Given the description of an element on the screen output the (x, y) to click on. 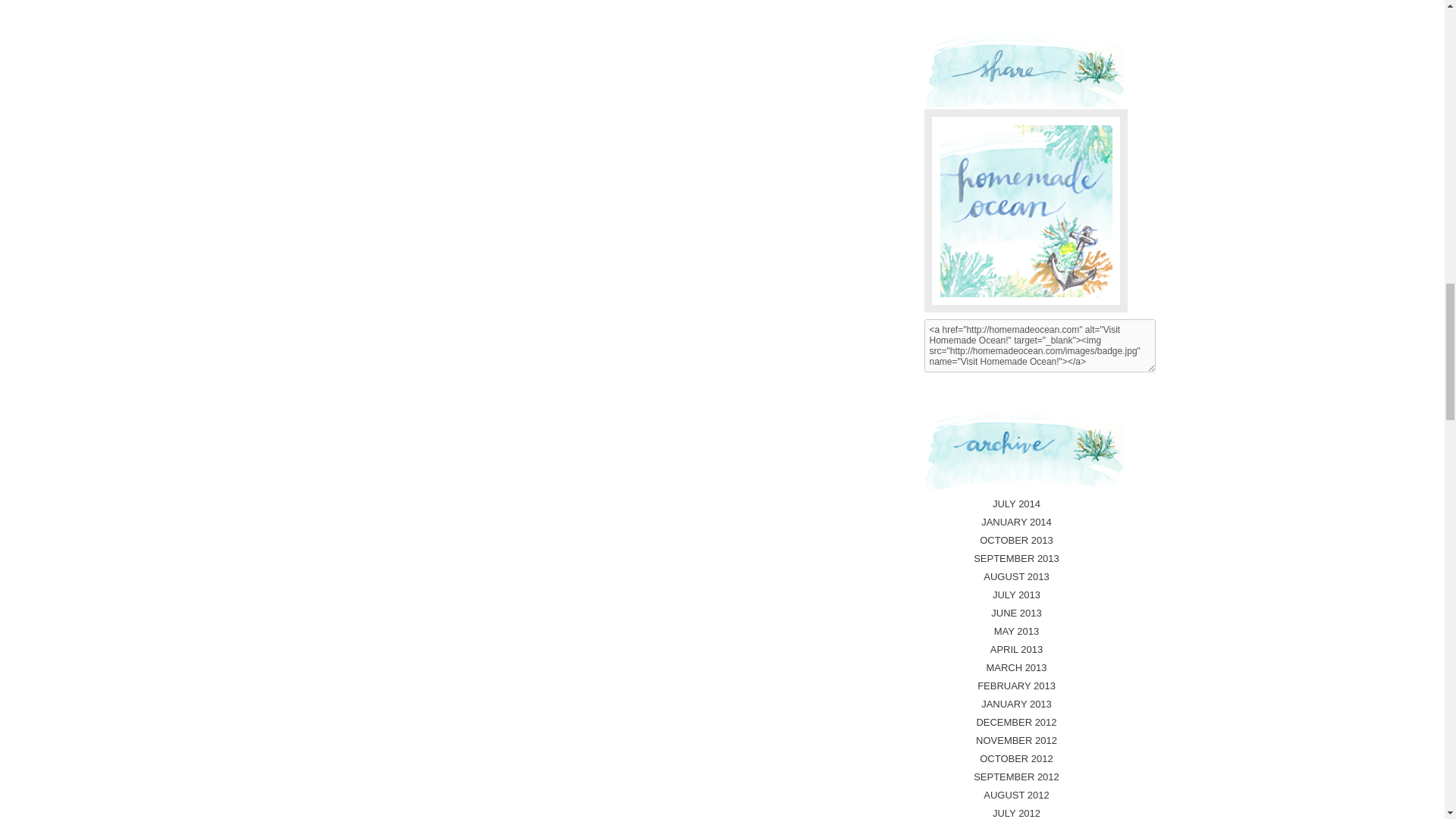
JANUARY 2013 (1016, 704)
MAY 2013 (1016, 631)
JULY 2013 (1016, 594)
MARCH 2013 (1015, 667)
JULY 2014 (1016, 503)
OCTOBER 2013 (1015, 540)
APRIL 2013 (1016, 649)
JANUARY 2014 (1016, 521)
NOVEMBER 2012 (1016, 740)
DECEMBER 2012 (1016, 722)
OCTOBER 2012 (1015, 758)
JUNE 2013 (1016, 613)
SEPTEMBER 2013 (1016, 558)
JULY 2012 (1016, 812)
AUGUST 2012 (1016, 794)
